Given the description of an element on the screen output the (x, y) to click on. 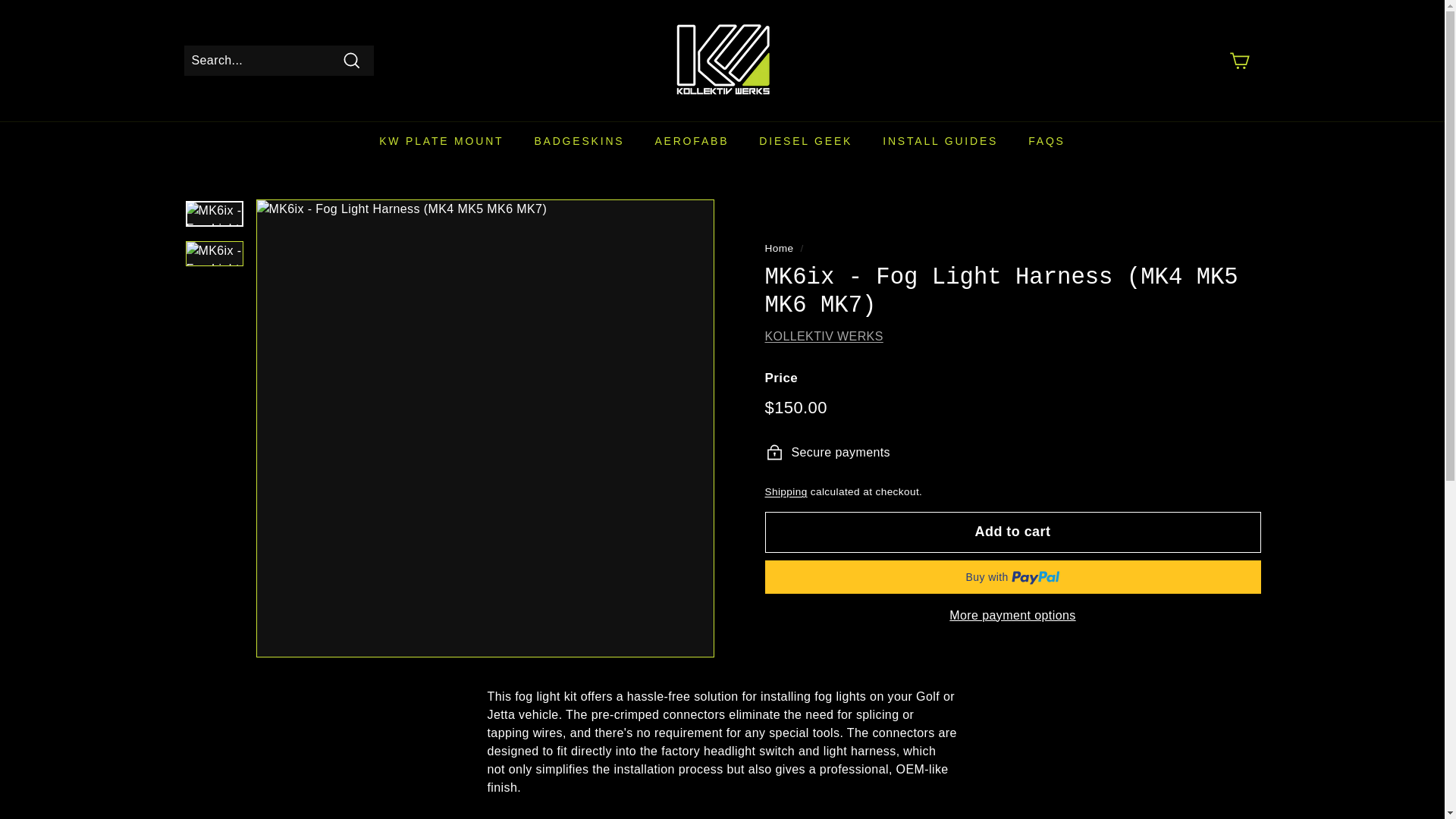
BADGESKINS (578, 141)
DIESEL GEEK (805, 141)
KOLLEKTIV WERKS (823, 336)
AEROFABB (691, 141)
KW PLATE MOUNT (441, 141)
Back to the frontpage (778, 247)
FAQS (1046, 141)
INSTALL GUIDES (940, 141)
